Given the description of an element on the screen output the (x, y) to click on. 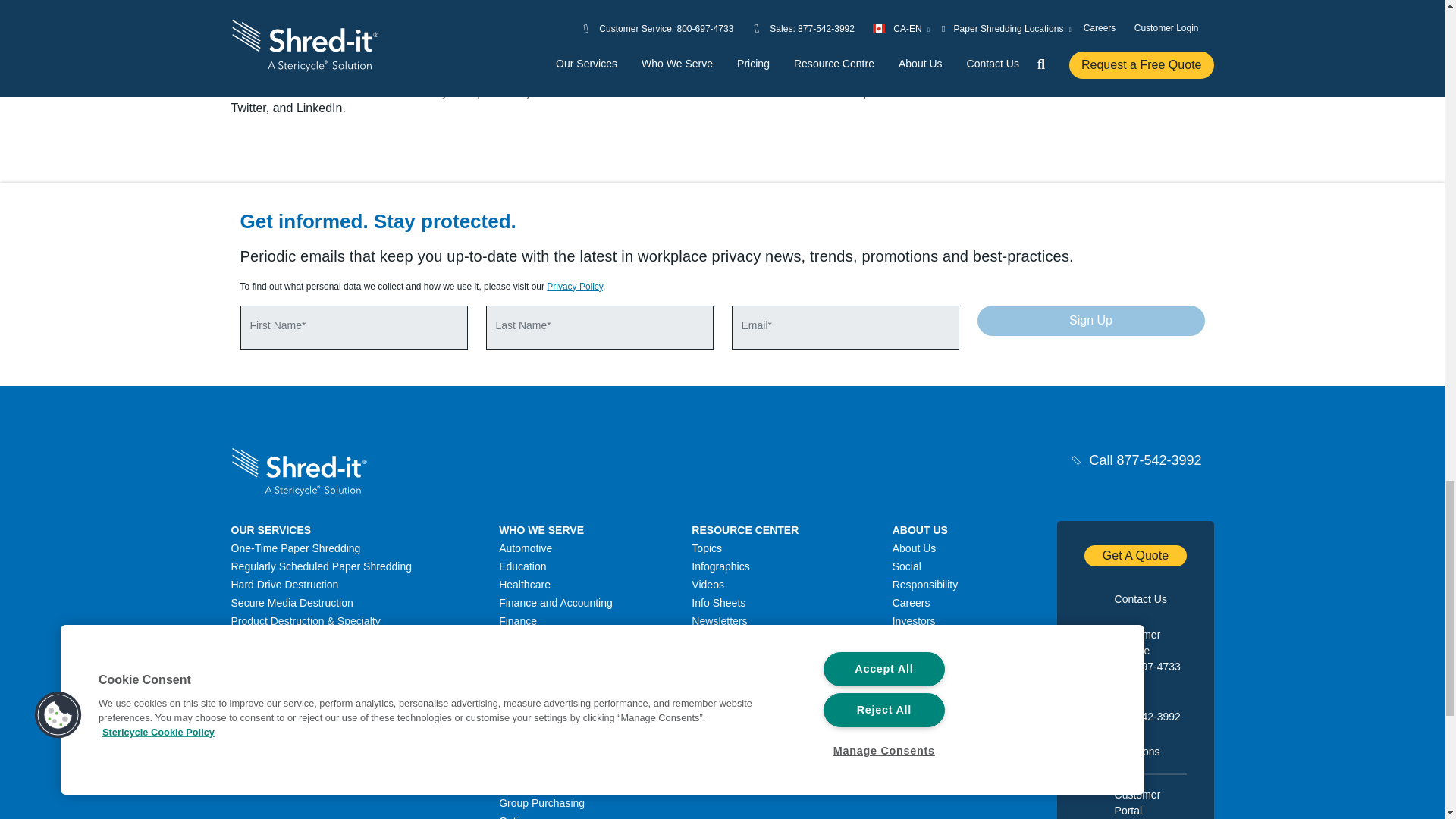
Please enter a valid email address. (844, 327)
